Given the description of an element on the screen output the (x, y) to click on. 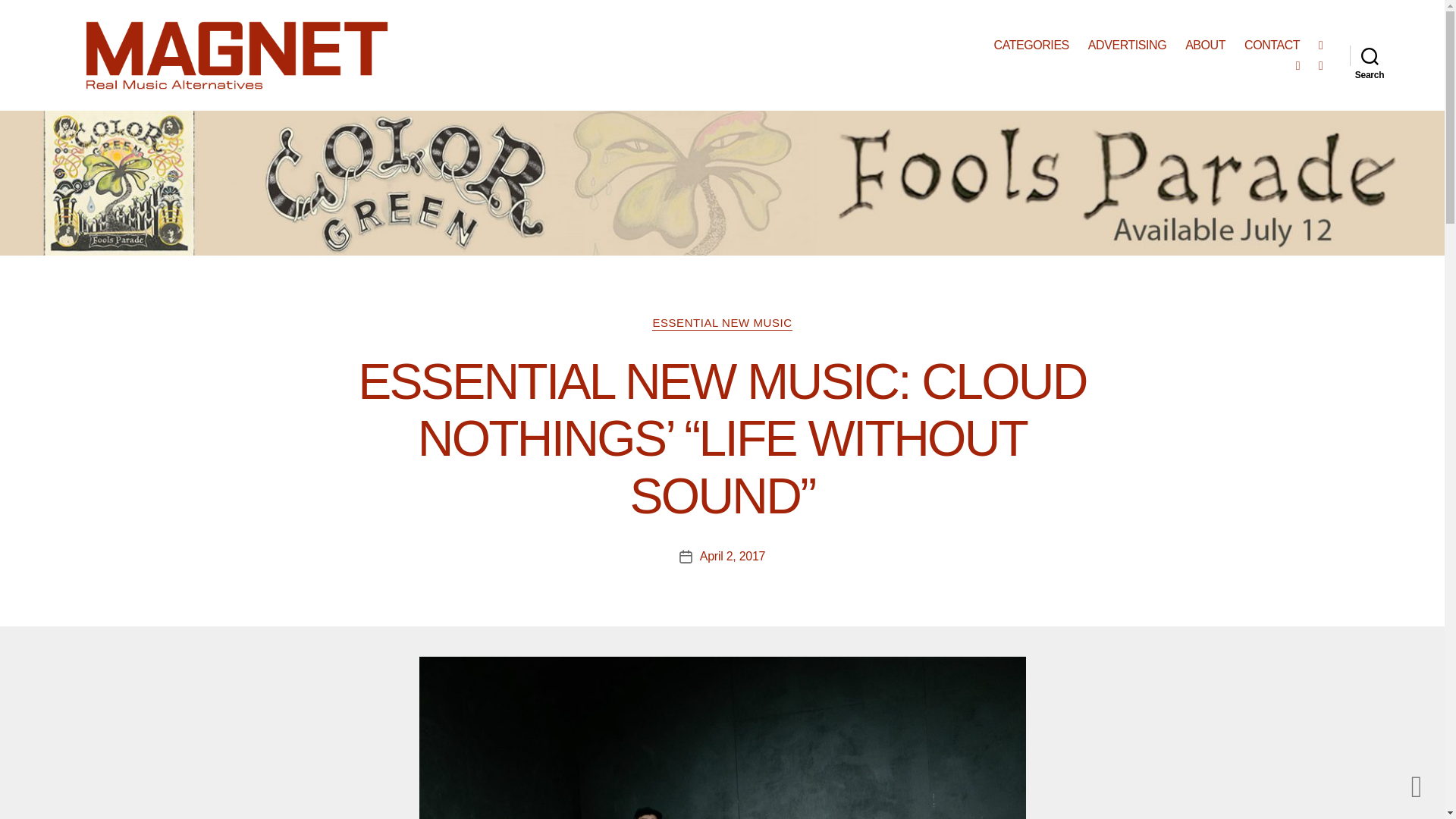
ABOUT (1205, 44)
Search (1369, 55)
CATEGORIES (1031, 44)
April 2, 2017 (732, 555)
CONTACT (1272, 44)
ESSENTIAL NEW MUSIC (722, 322)
ADVERTISING (1126, 44)
